Given the description of an element on the screen output the (x, y) to click on. 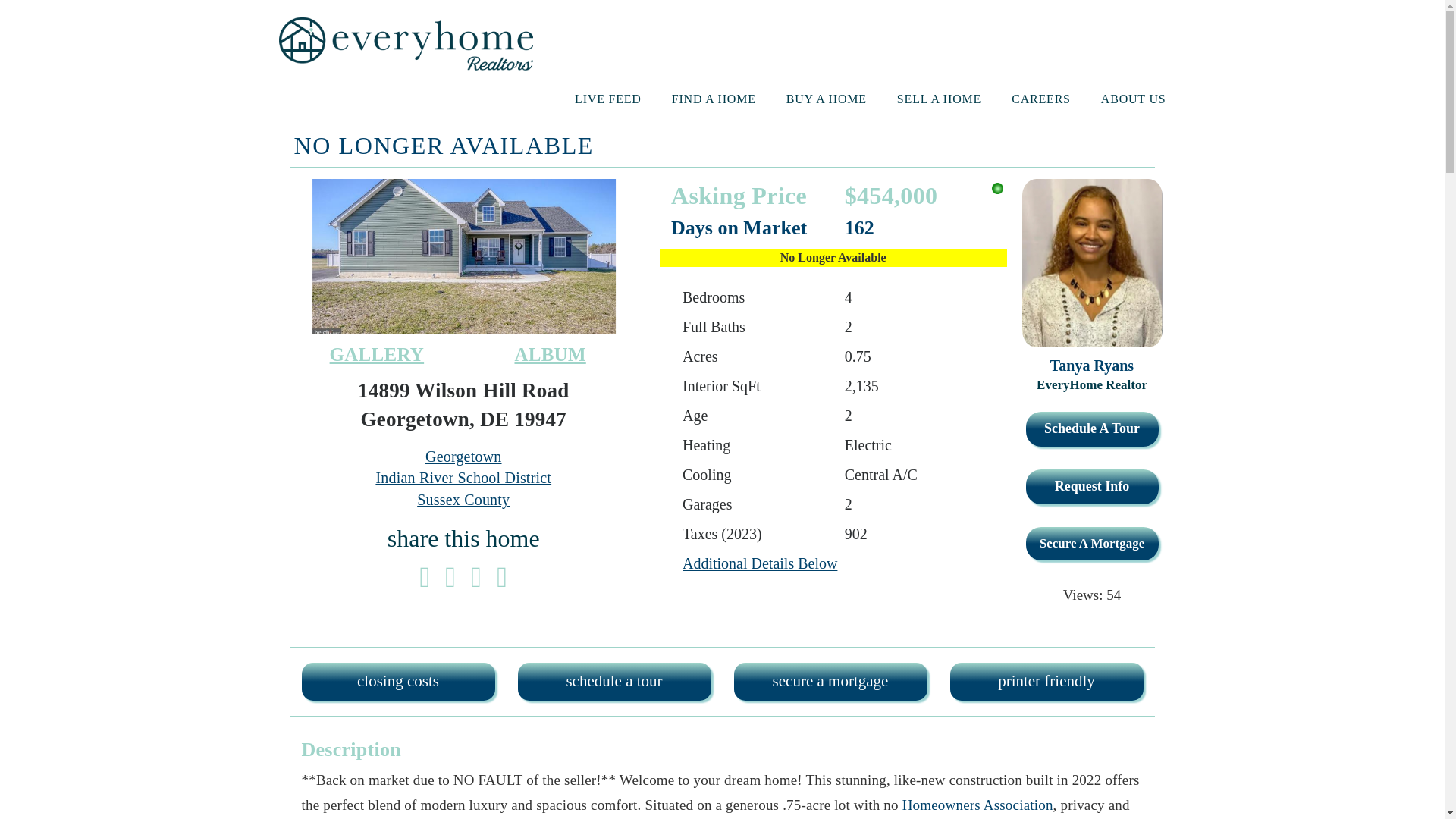
ABOUT US (1133, 99)
CAREERS (1040, 99)
FIND A HOME (713, 99)
SELL A HOME (938, 99)
LIVE FEED (608, 99)
BUY A HOME (826, 99)
